Given the description of an element on the screen output the (x, y) to click on. 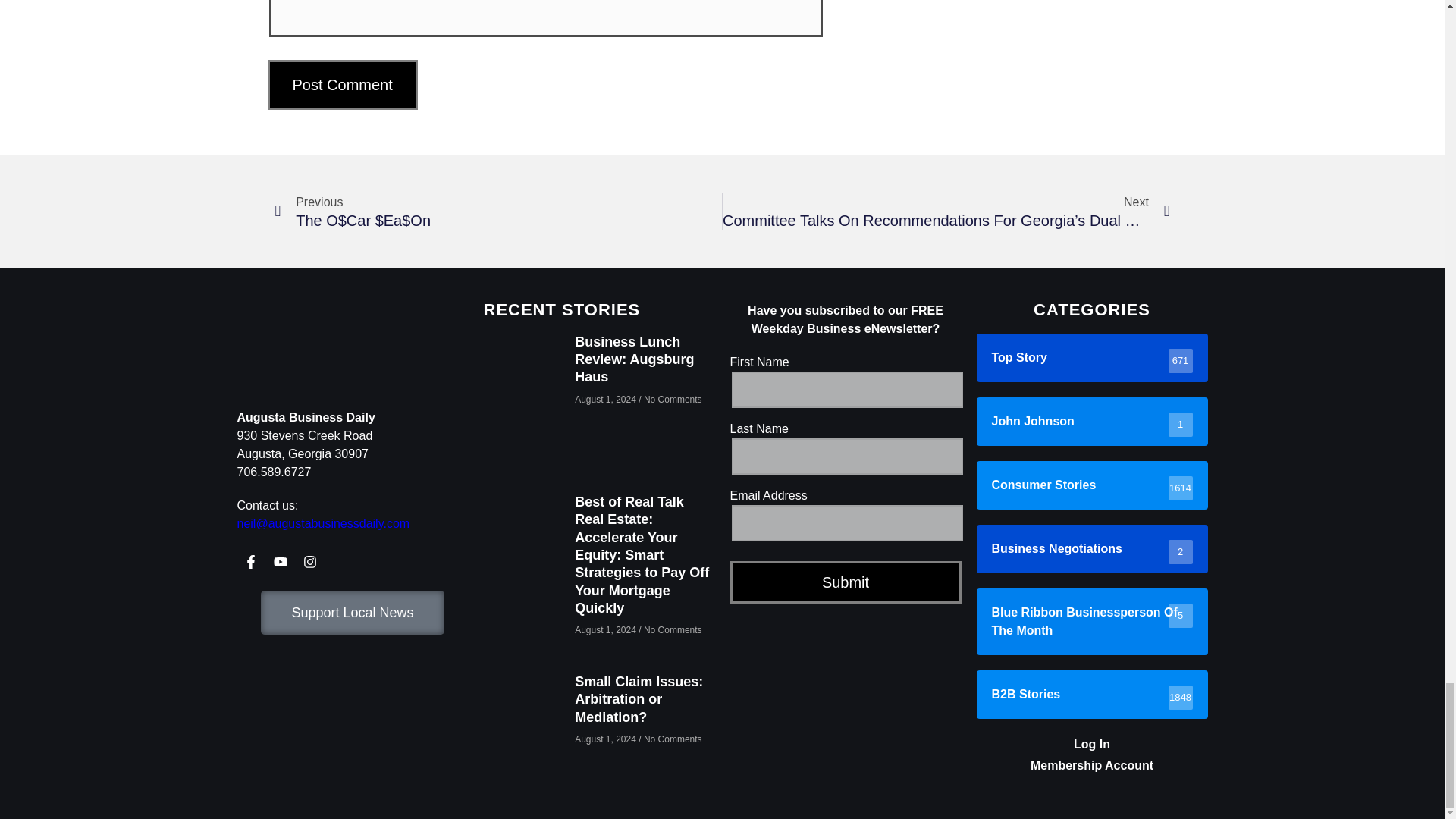
Post Comment (341, 84)
